Given the description of an element on the screen output the (x, y) to click on. 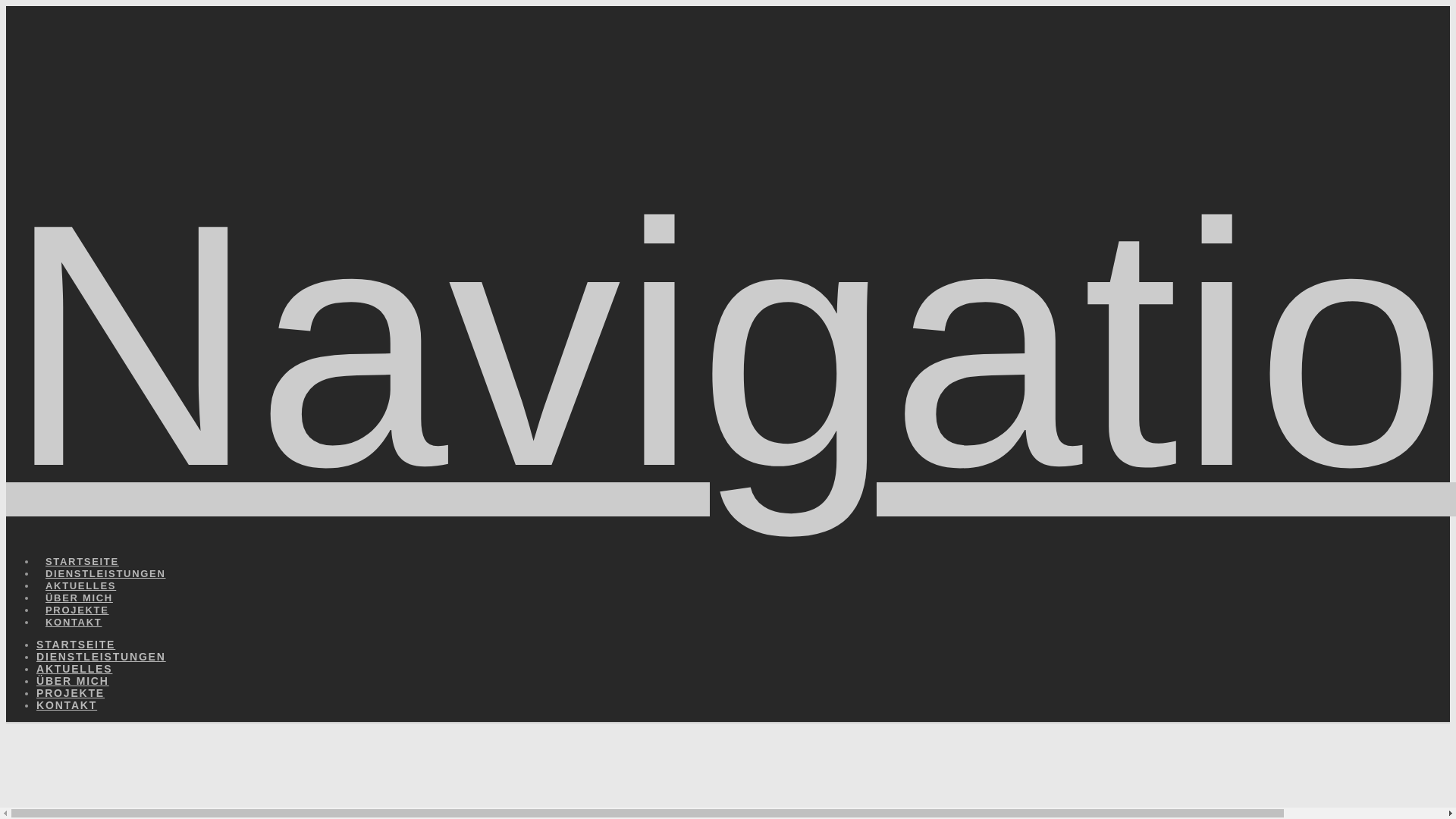
DIENSTLEISTUNGEN Element type: text (101, 656)
KONTAKT Element type: text (72, 602)
KONTAKT Element type: text (66, 705)
PROJEKTE Element type: text (76, 590)
AKTUELLES Element type: text (80, 566)
STARTSEITE Element type: text (81, 542)
DIENSTLEISTUNGEN Element type: text (104, 554)
AKTUELLES Element type: text (74, 668)
STARTSEITE Element type: text (75, 644)
PROJEKTE Element type: text (70, 693)
